Given the description of an element on the screen output the (x, y) to click on. 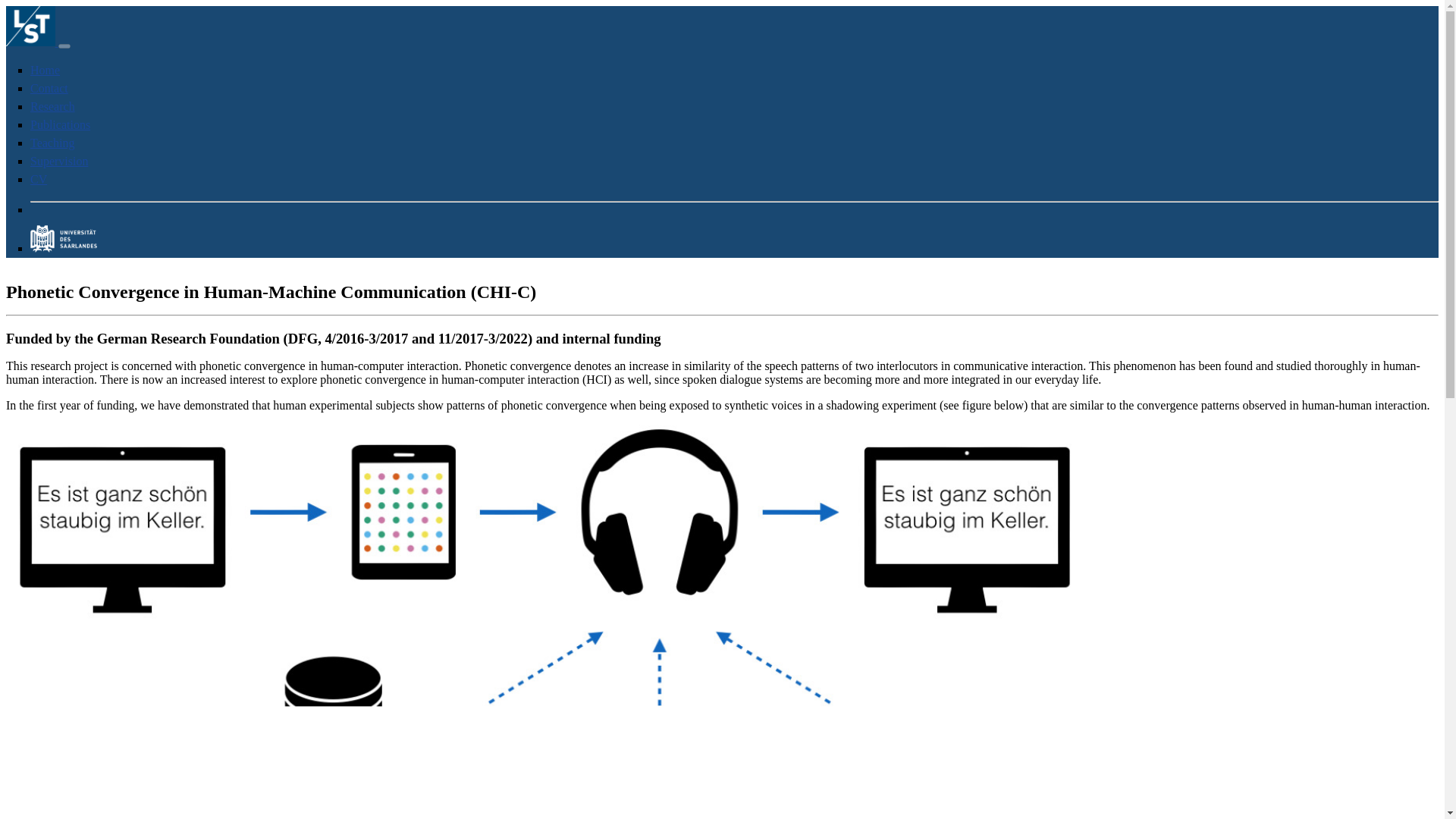
Research (52, 106)
Teaching (52, 142)
Home (44, 69)
Contact (49, 88)
Publications (60, 124)
Supervision (58, 160)
CV (38, 178)
